Given the description of an element on the screen output the (x, y) to click on. 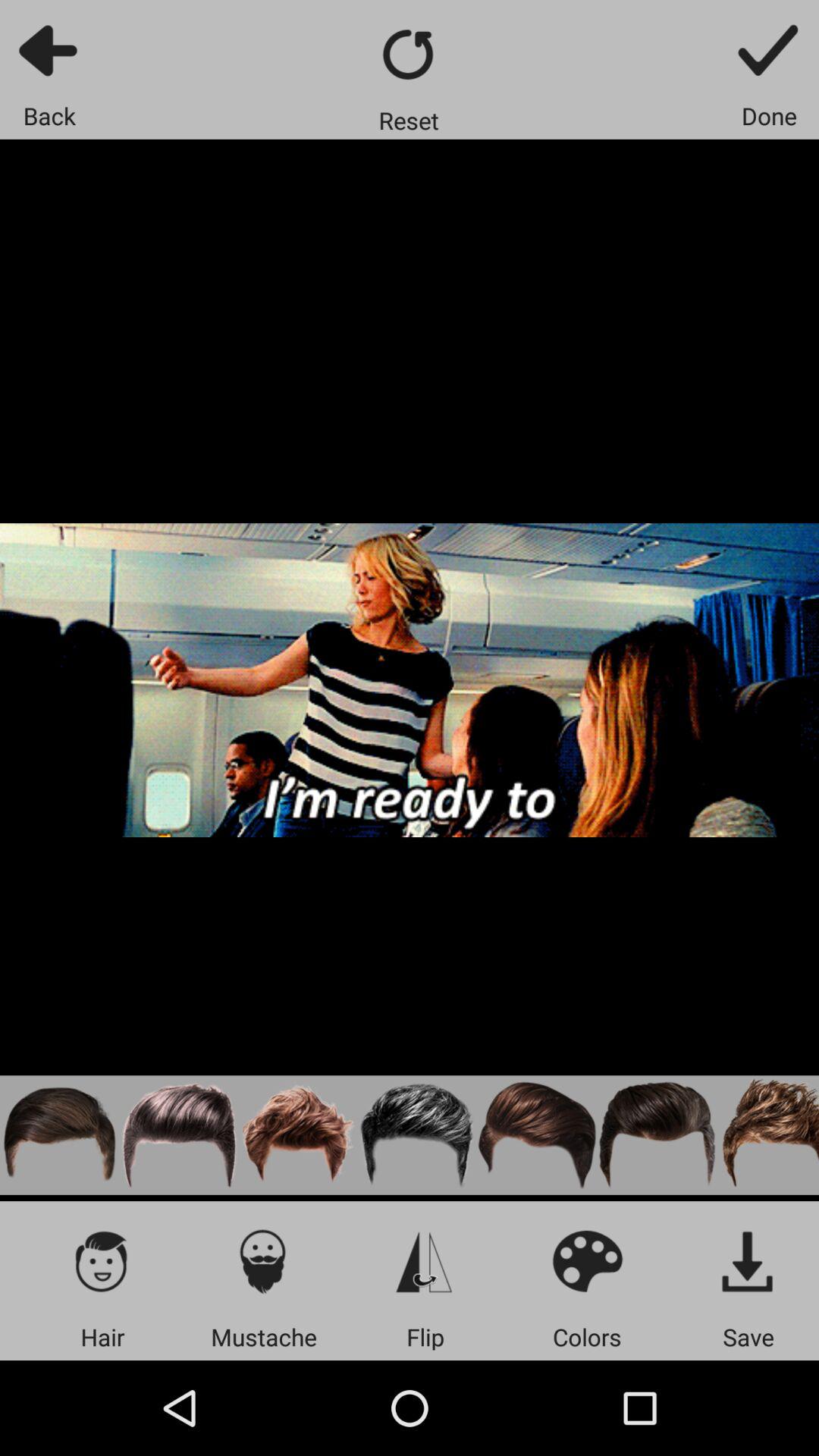
turn off icon above the mustache app (263, 1260)
